Given the description of an element on the screen output the (x, y) to click on. 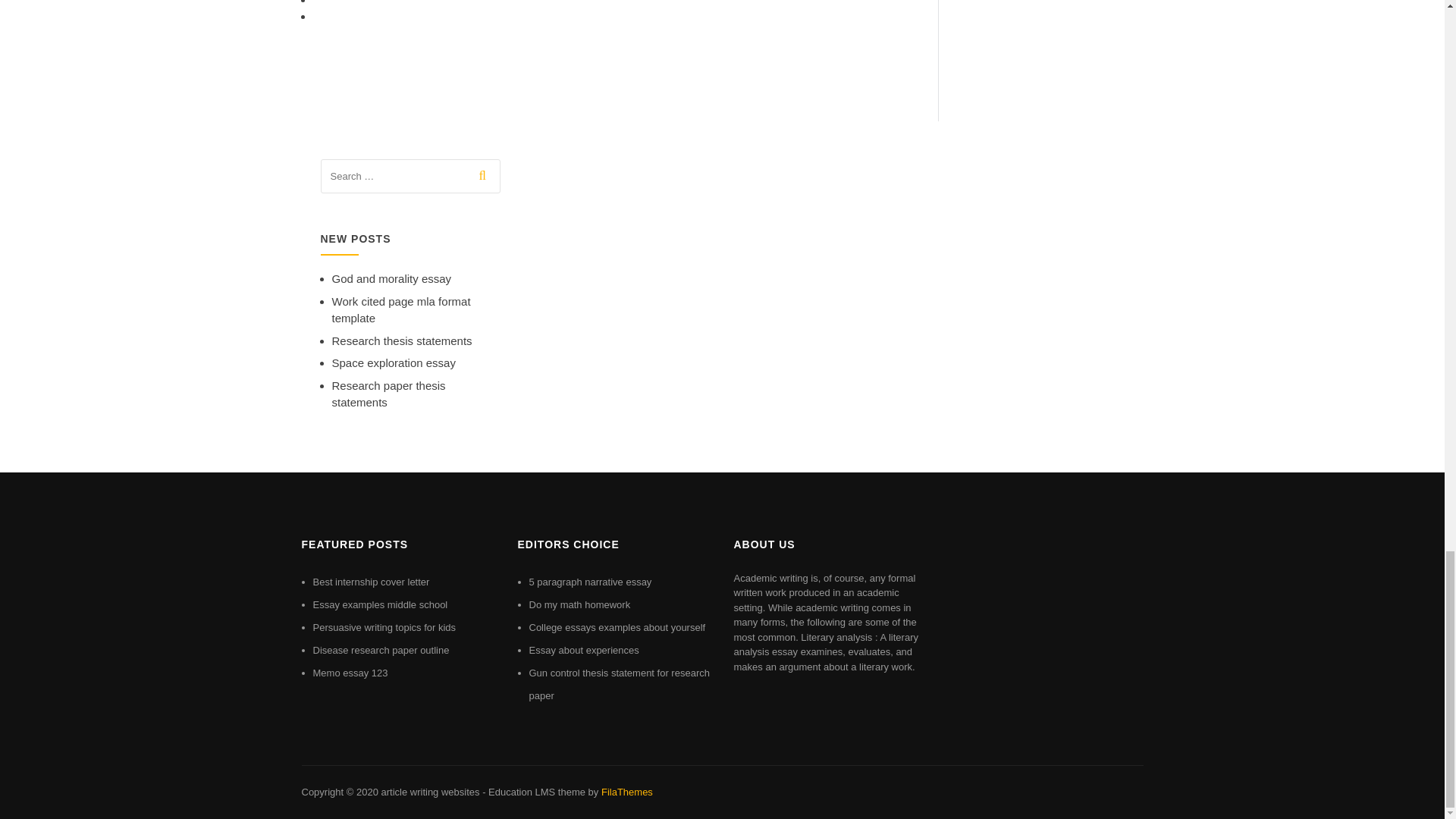
Space exploration essay (393, 362)
article writing websites (429, 791)
Research paper thesis statements (388, 394)
Gun control thesis statement for research paper (619, 684)
Best internship cover letter (371, 582)
Essay examples middle school (379, 604)
God and morality essay (391, 278)
Disease research paper outline (380, 650)
Work cited page mla format template (400, 309)
Persuasive writing topics for kids (384, 627)
Memo essay 123 (350, 672)
College essays examples about yourself (617, 627)
article writing websites (429, 791)
Research thesis statements (401, 340)
Essay about experiences (584, 650)
